Given the description of an element on the screen output the (x, y) to click on. 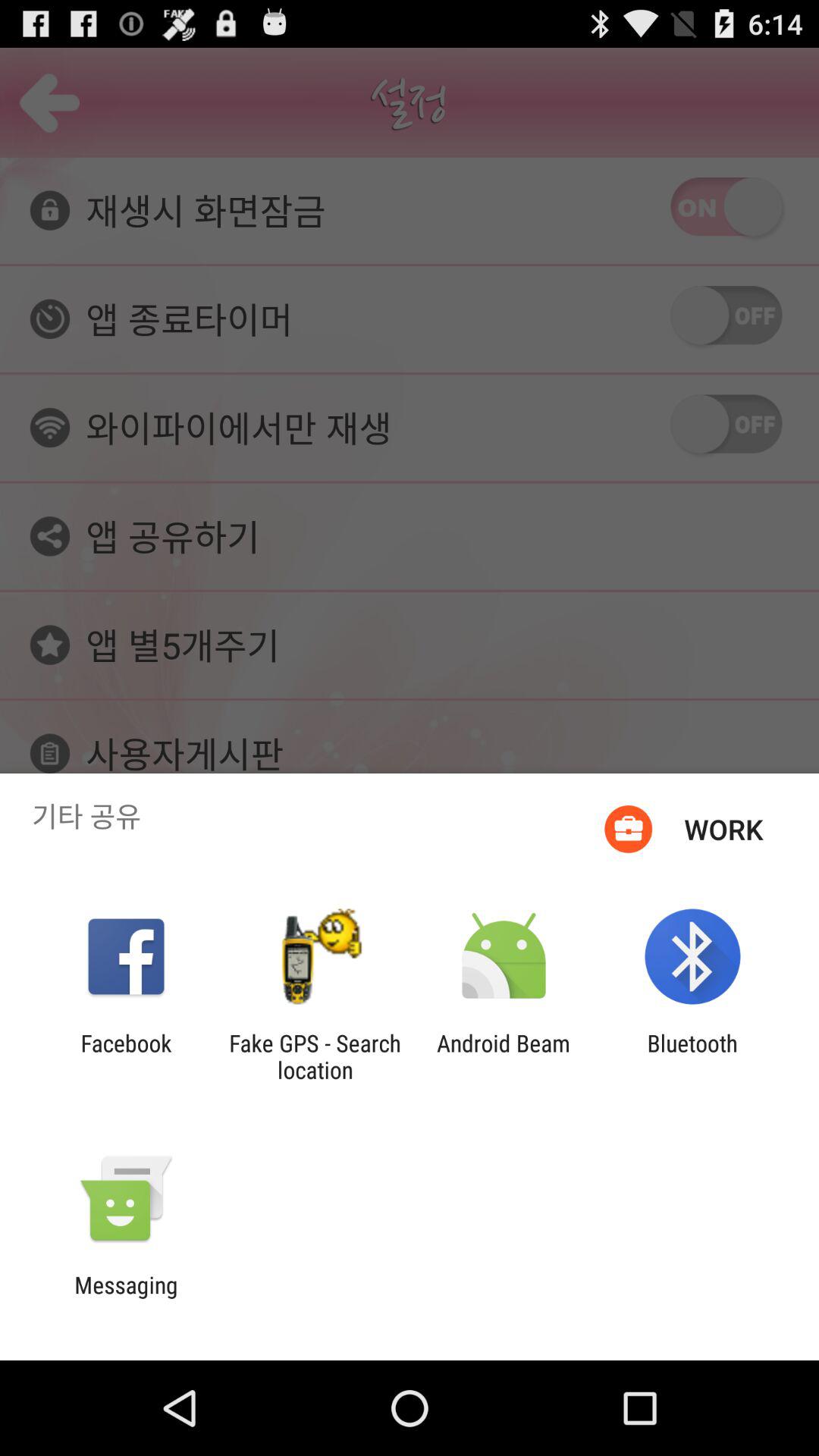
flip until android beam icon (503, 1056)
